Given the description of an element on the screen output the (x, y) to click on. 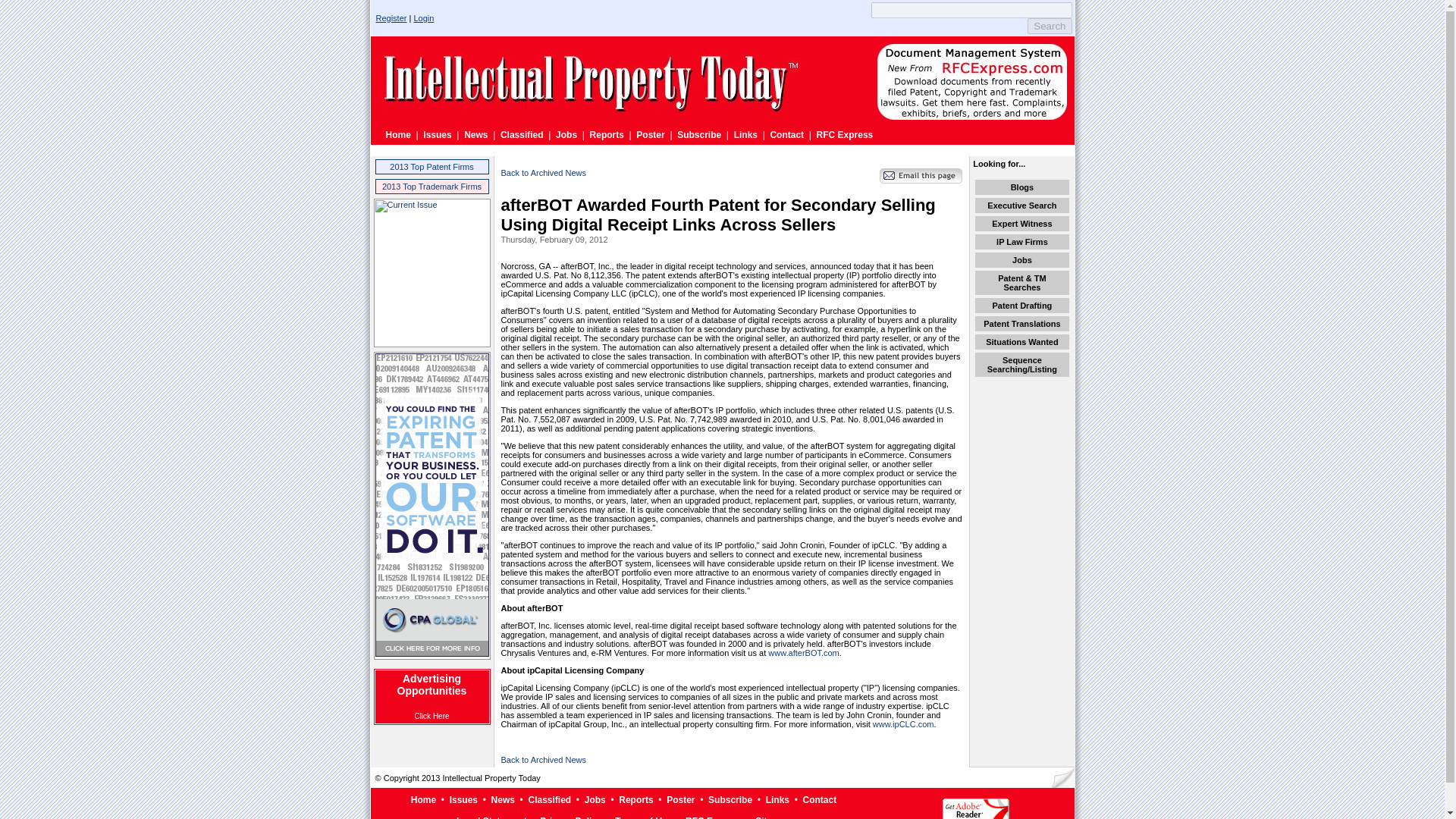
Classified (548, 799)
Login (423, 17)
Patent Drafting (1021, 305)
Back to Archived News (543, 172)
Issues (463, 799)
IP Law Firms (1021, 241)
www.afterBOT.com (804, 652)
Click Here (430, 715)
Situations Wanted (1021, 341)
Expert Witness (1021, 223)
www.ipCLC.com (903, 723)
Contact (786, 134)
Issues (437, 134)
Home (422, 799)
Poster (649, 134)
